Given the description of an element on the screen output the (x, y) to click on. 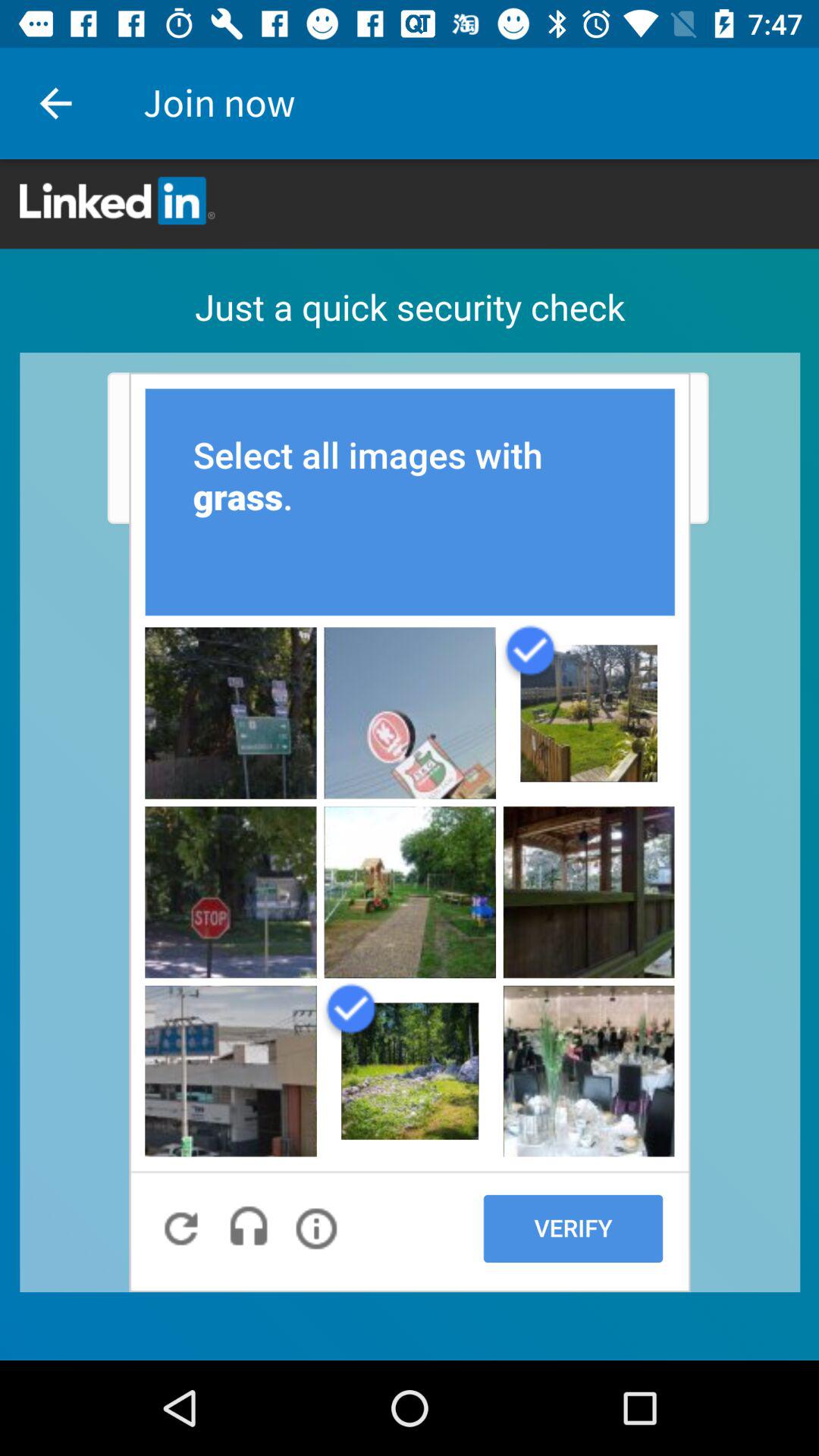
captcha (409, 759)
